Given the description of an element on the screen output the (x, y) to click on. 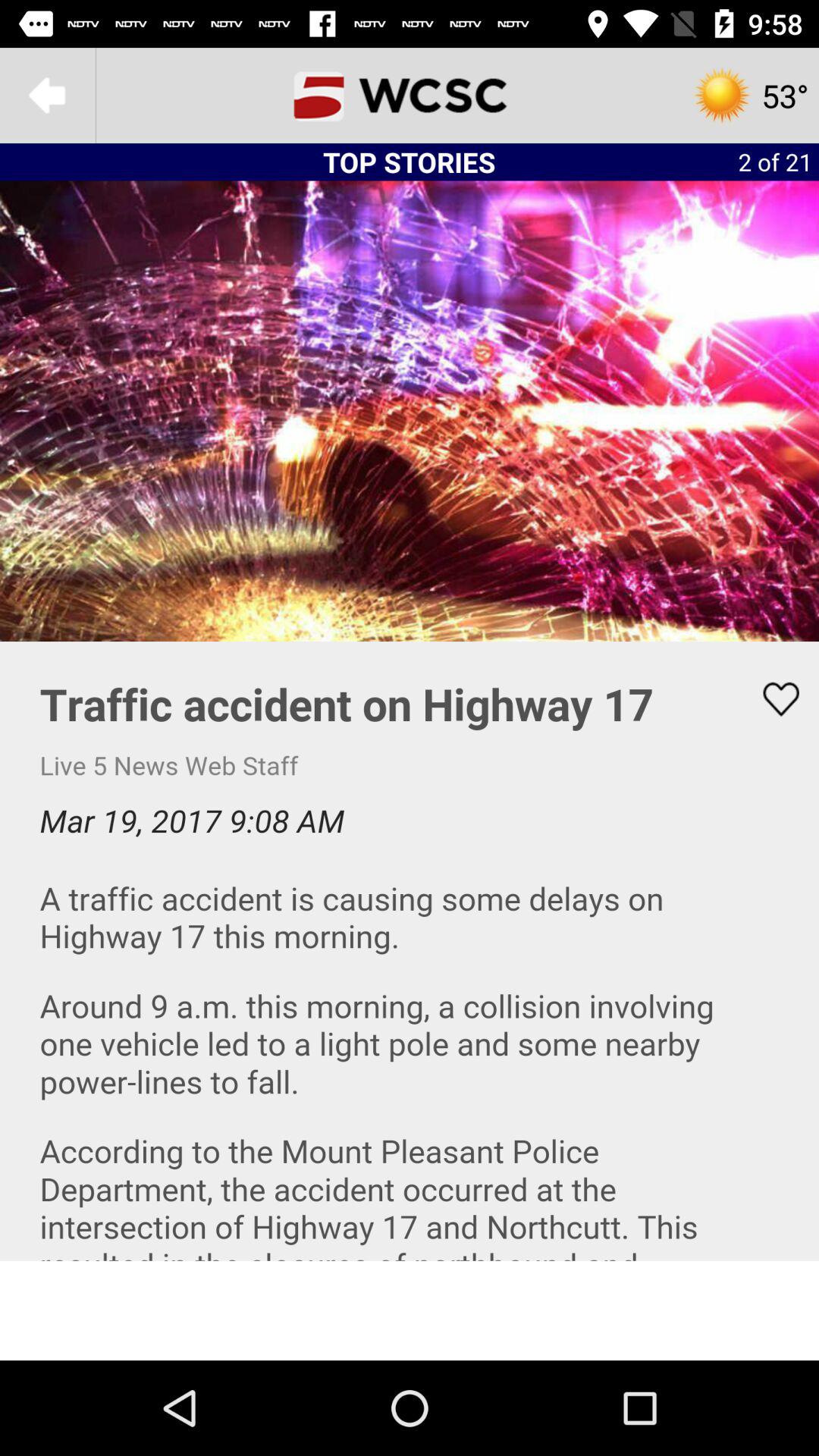
go to main menu option (47, 95)
